Given the description of an element on the screen output the (x, y) to click on. 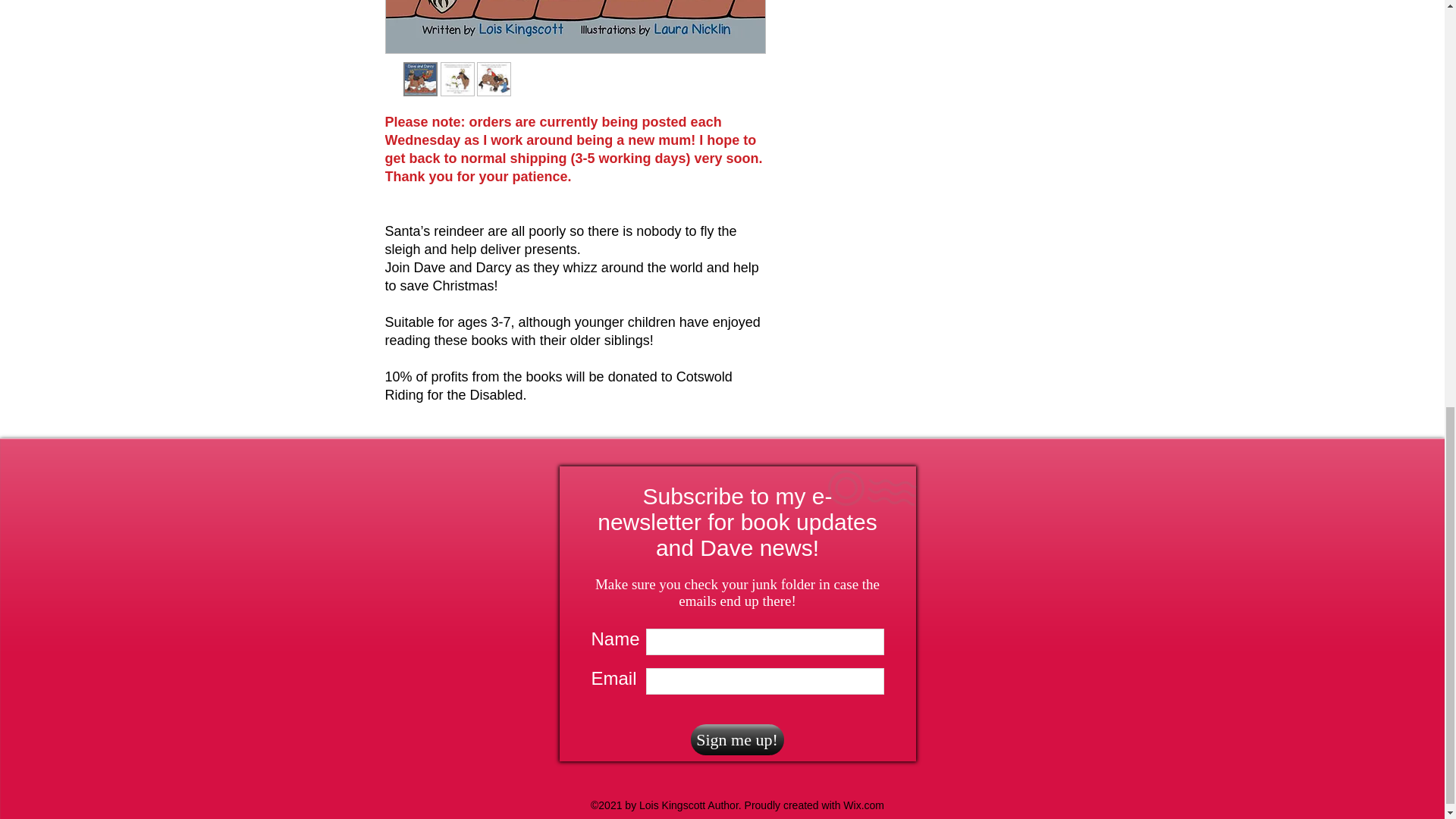
Sign me up! (736, 739)
